Given the description of an element on the screen output the (x, y) to click on. 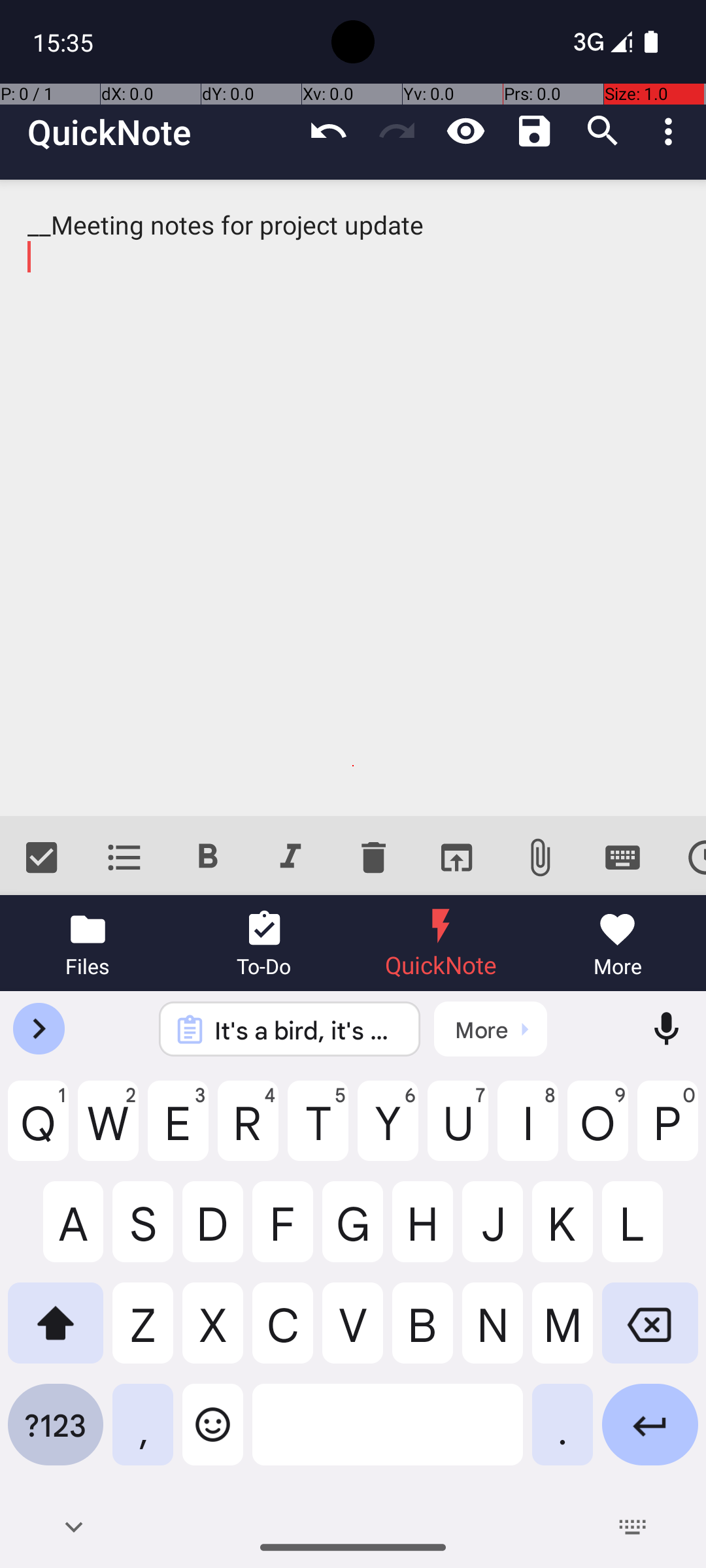
__Meeting notes for project update
 Element type: android.widget.EditText (353, 497)
It's a bird, it's a plane. Element type: android.widget.TextView (306, 1029)
